Given the description of an element on the screen output the (x, y) to click on. 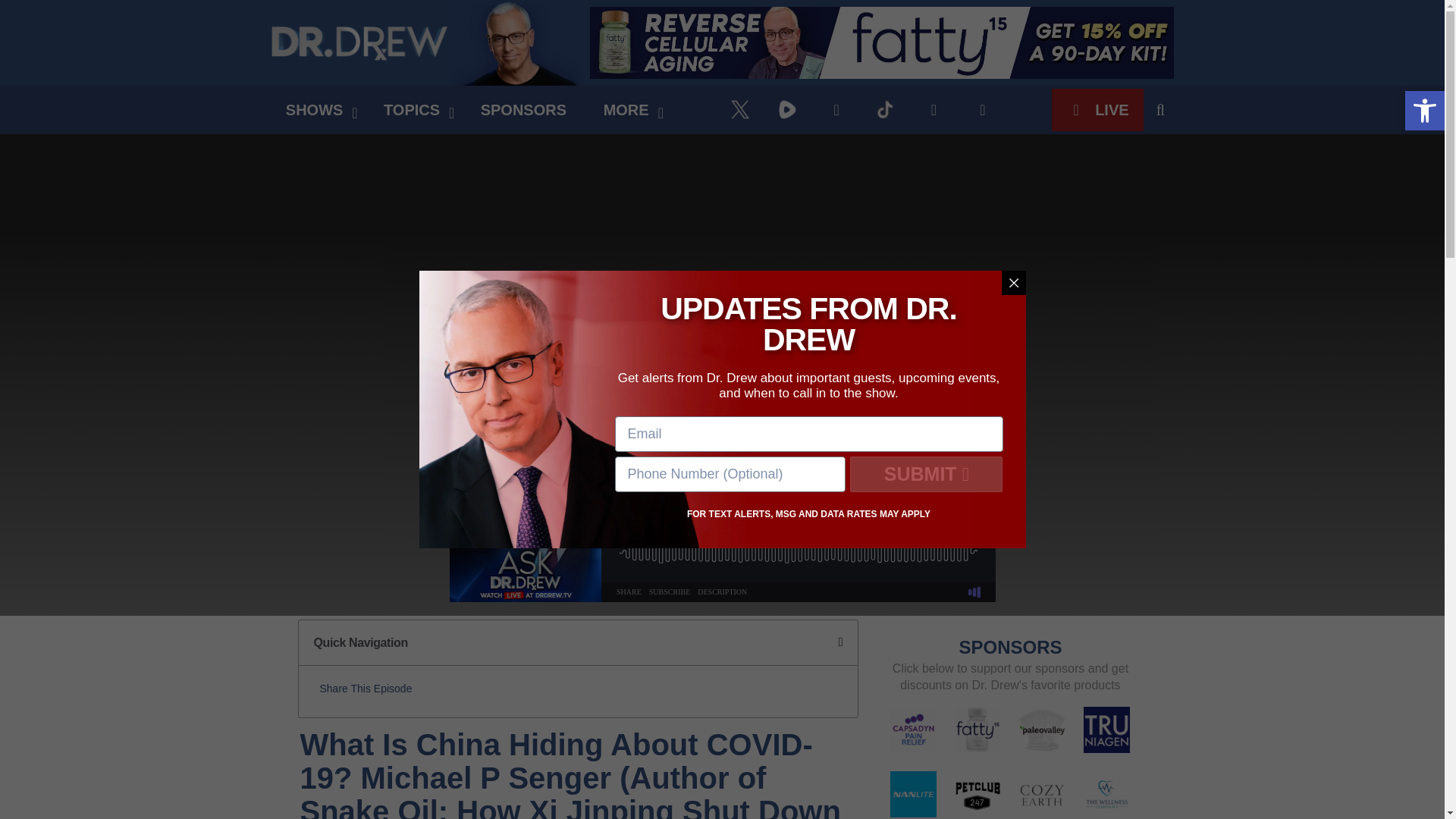
Accessibility Tools (1424, 110)
TikTok (885, 108)
Rumble (786, 108)
X Twitter (739, 108)
